Given the description of an element on the screen output the (x, y) to click on. 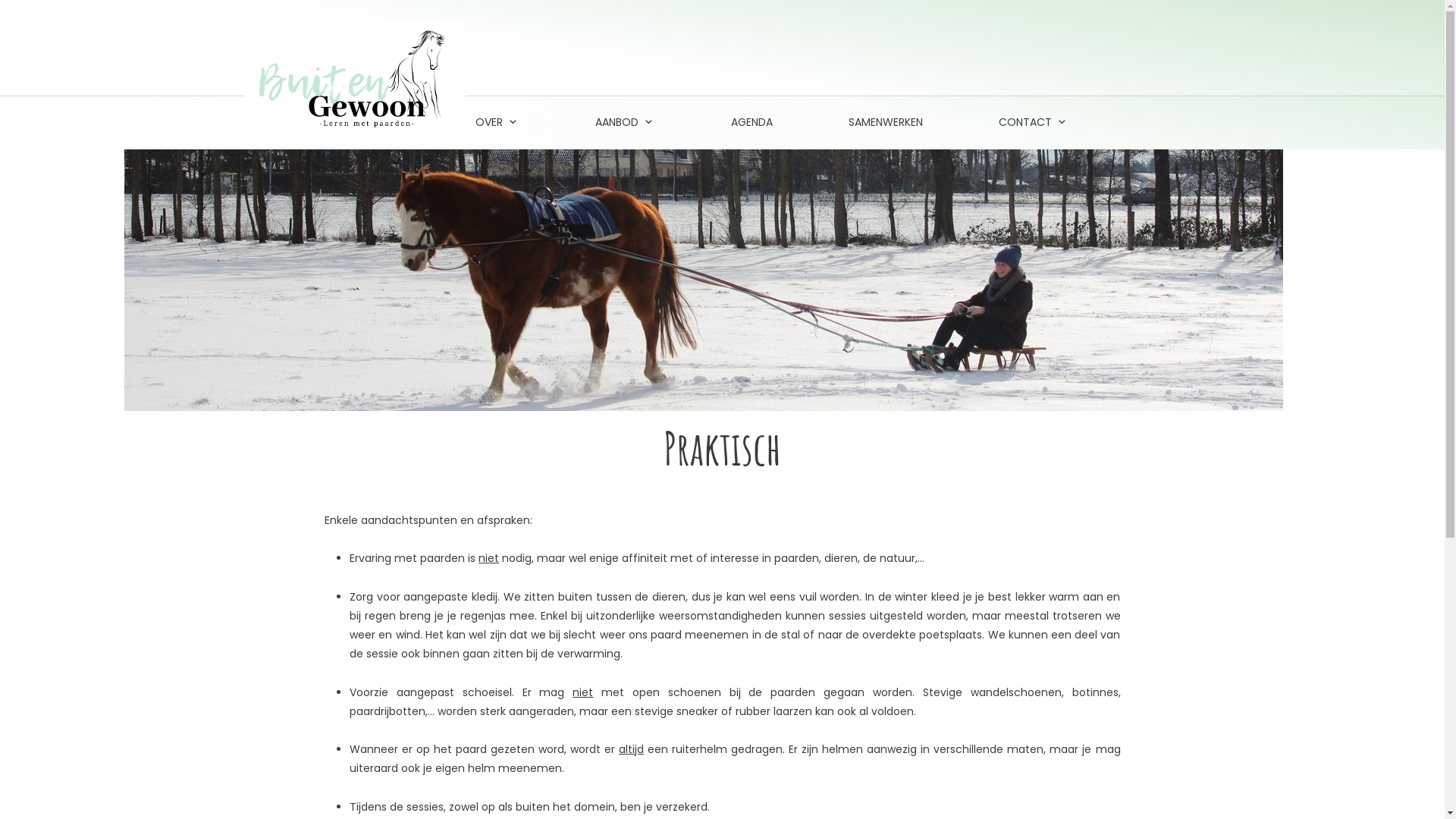
SAMENWERKEN Element type: text (885, 122)
AGENDA Element type: text (751, 122)
AANBOD Element type: text (625, 122)
therapie paarden hippotherapie Element type: hover (703, 280)
OVER Element type: text (497, 122)
CONTACT Element type: text (1033, 122)
